Given the description of an element on the screen output the (x, y) to click on. 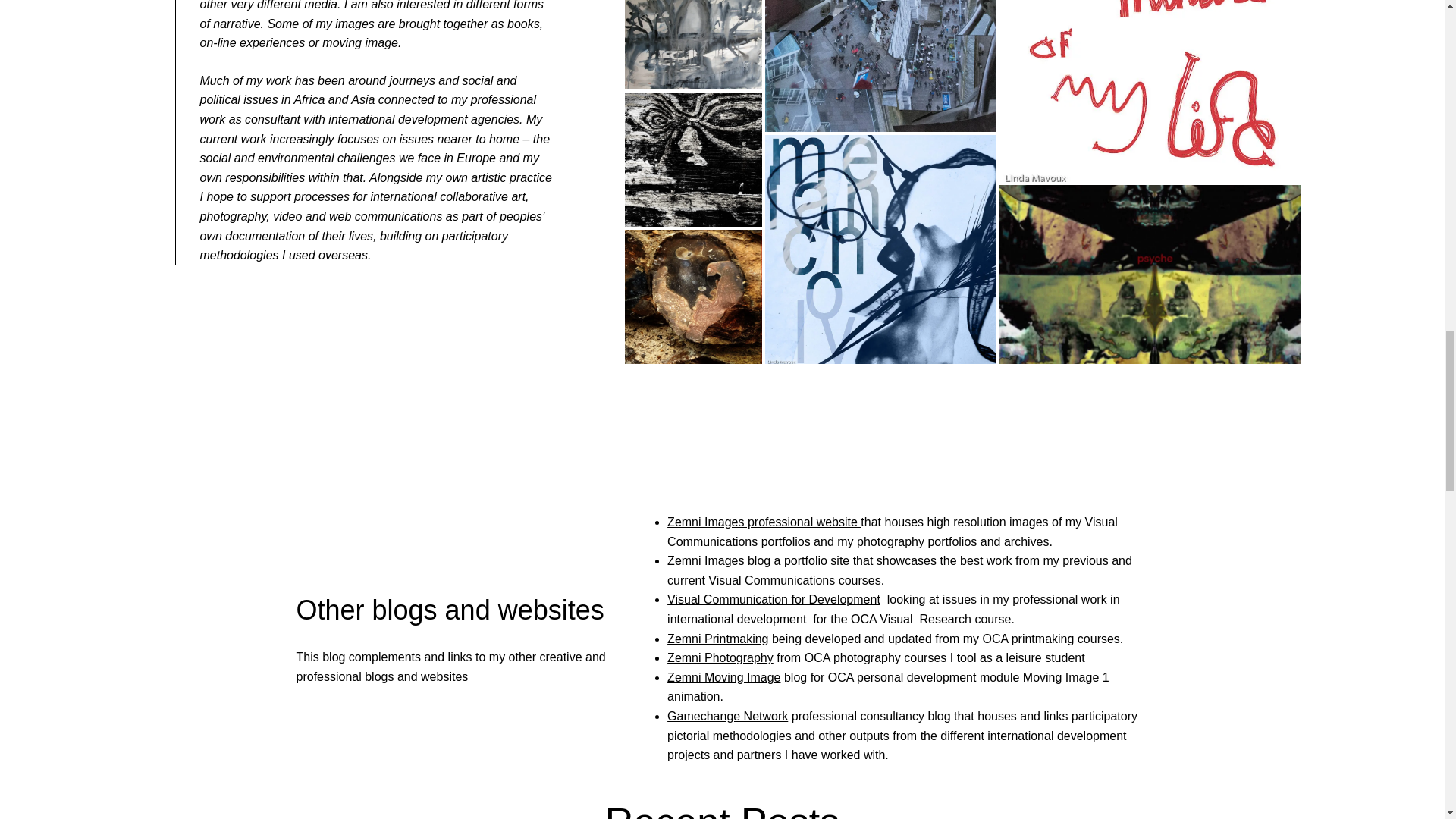
Zemni Images professional website (763, 521)
Zemni Images blog (718, 560)
Zemni Moving Image (723, 676)
Visual Communication for Development (773, 599)
Gamechange Network (726, 716)
Zemni Printmaking (717, 638)
Zemni Photography (719, 657)
